Given the description of an element on the screen output the (x, y) to click on. 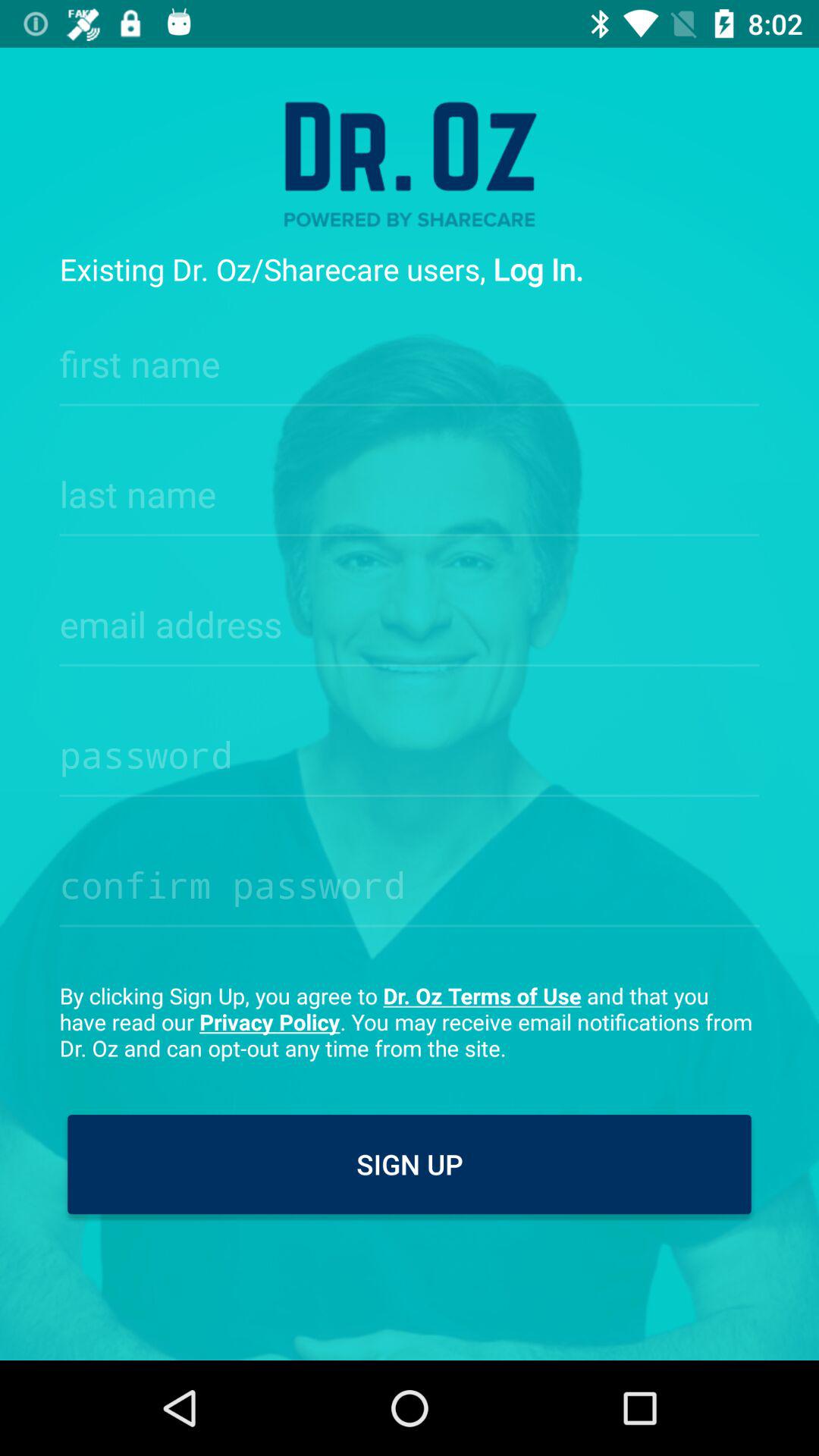
enter password (409, 750)
